Given the description of an element on the screen output the (x, y) to click on. 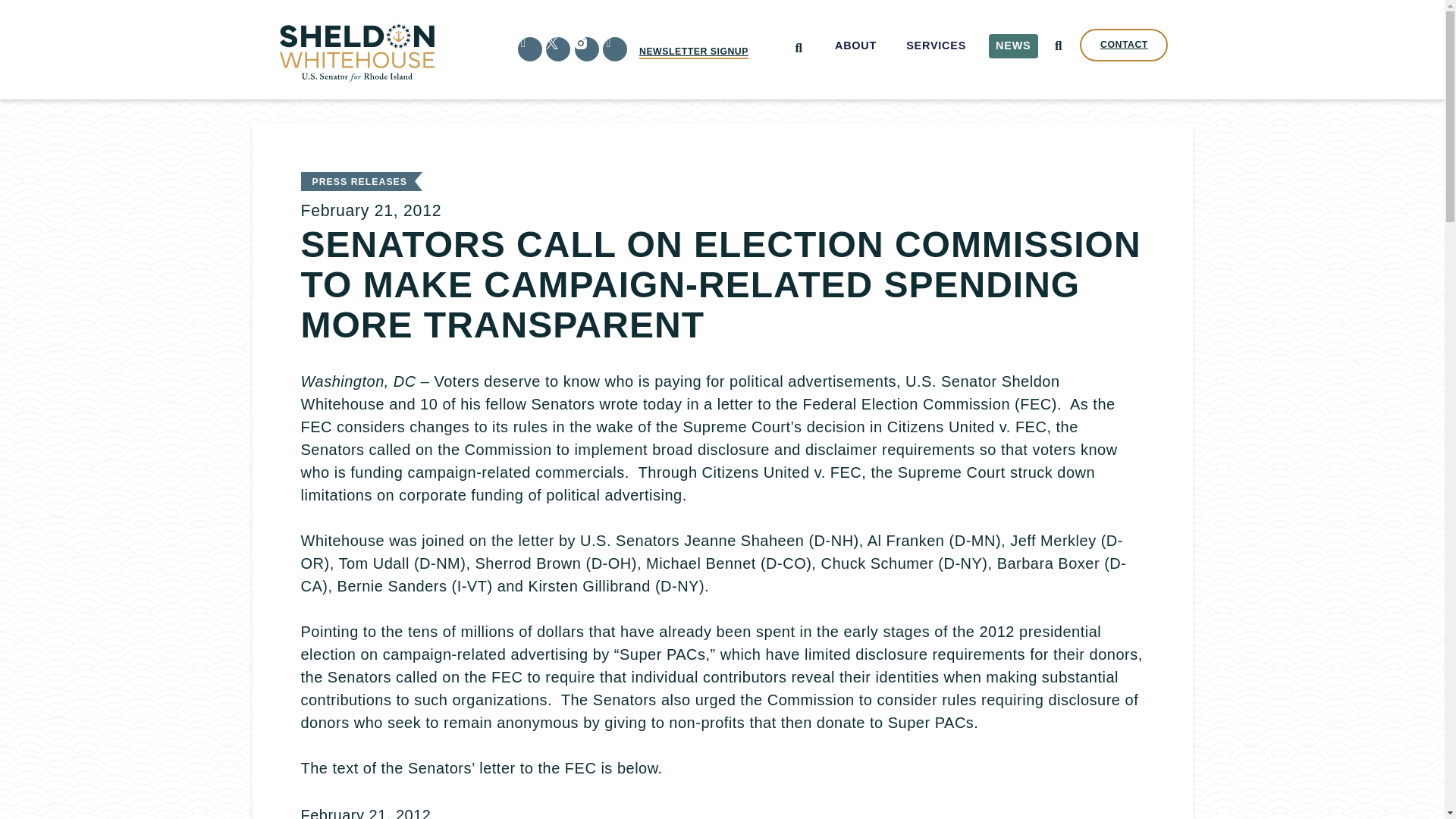
NEWS (1013, 46)
NEWSLETTER SIGNUP (693, 51)
OPEN SEARCH (798, 48)
CONTACT (1123, 44)
OPEN SEARCH (1057, 46)
SERVICES (936, 46)
ABOUT (855, 46)
